Given the description of an element on the screen output the (x, y) to click on. 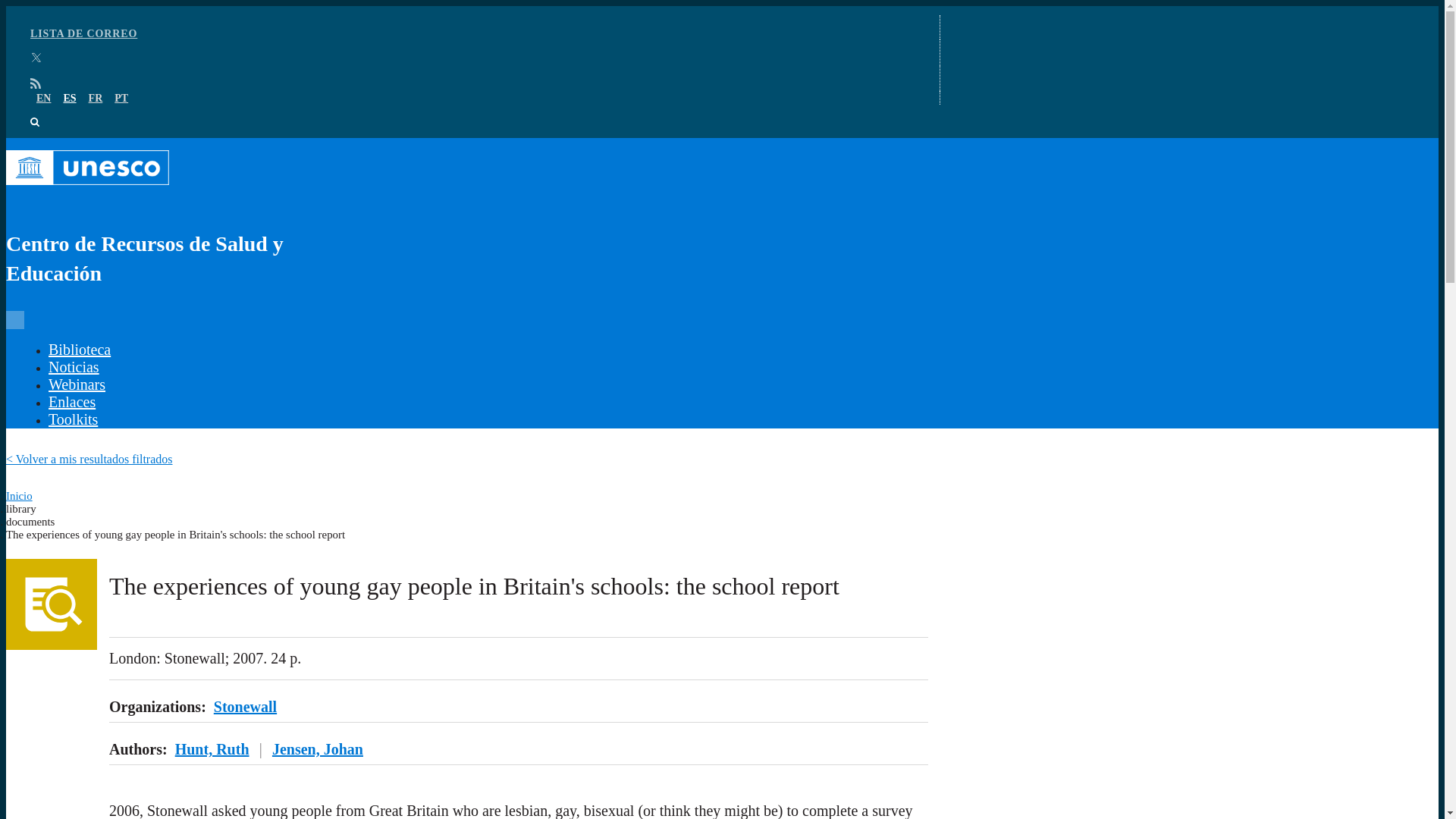
Inicio (18, 495)
Noticias (73, 366)
FR (95, 98)
PT (121, 98)
Enlaces (72, 401)
Webinars (76, 384)
LISTA DE CORREO (83, 33)
Hunt, Ruth (211, 749)
Stonewall (245, 706)
EN (43, 98)
Toolkits (72, 419)
Biblioteca (79, 349)
Pasar al contenido principal (722, 7)
Jensen, Johan (317, 749)
ES (68, 98)
